Given the description of an element on the screen output the (x, y) to click on. 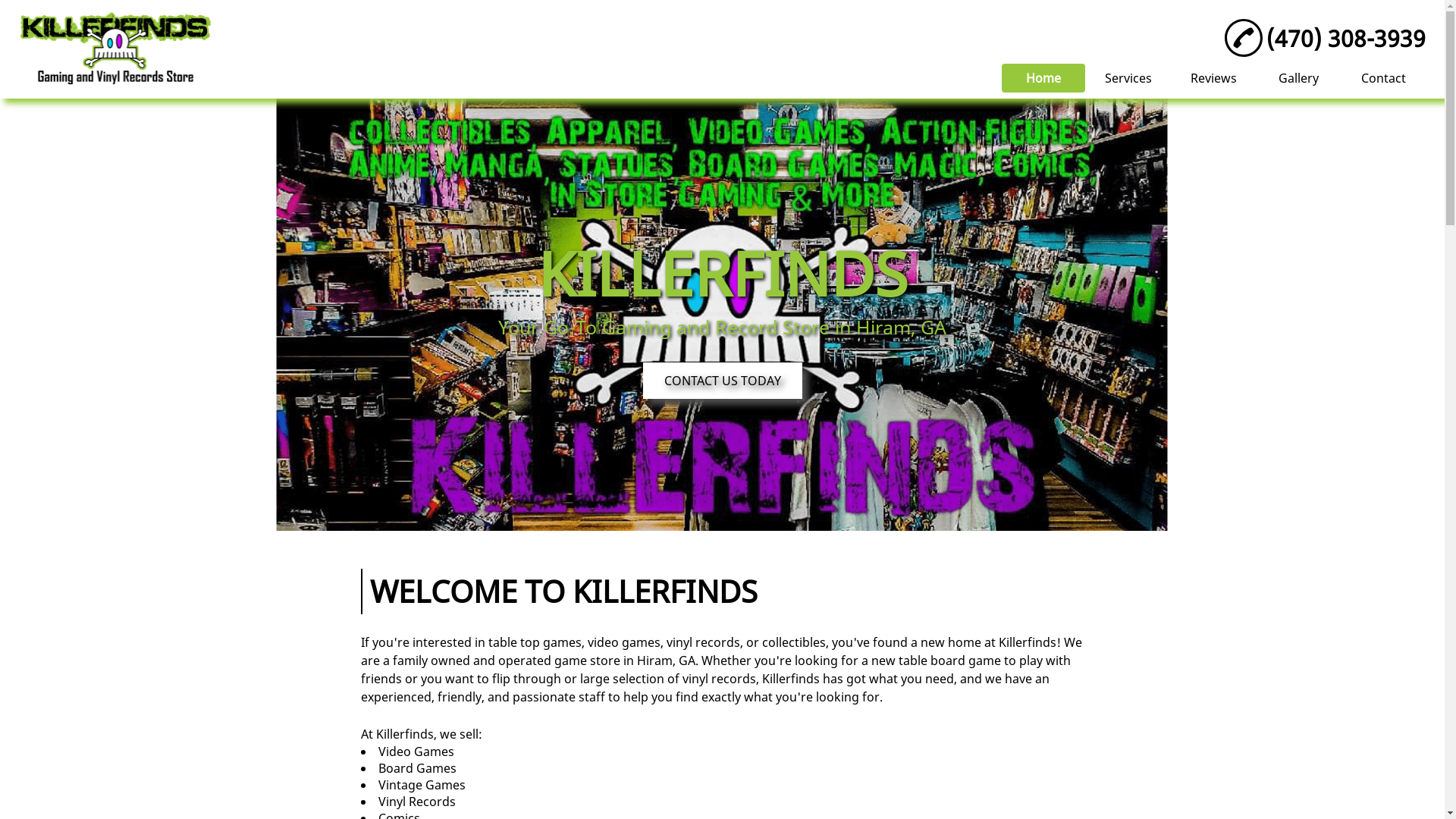
Vintage Games Element type: text (421, 784)
Board Games Element type: text (417, 767)
Gallery Element type: text (1297, 77)
(470) 308-3939 Element type: text (1324, 37)
Contact Element type: text (1382, 77)
Vinyl Records Element type: text (416, 801)
Video Games Element type: text (416, 751)
CONTACT US TODAY Element type: text (722, 380)
Reviews Element type: text (1213, 77)
Home Element type: text (1043, 77)
